Given the description of an element on the screen output the (x, y) to click on. 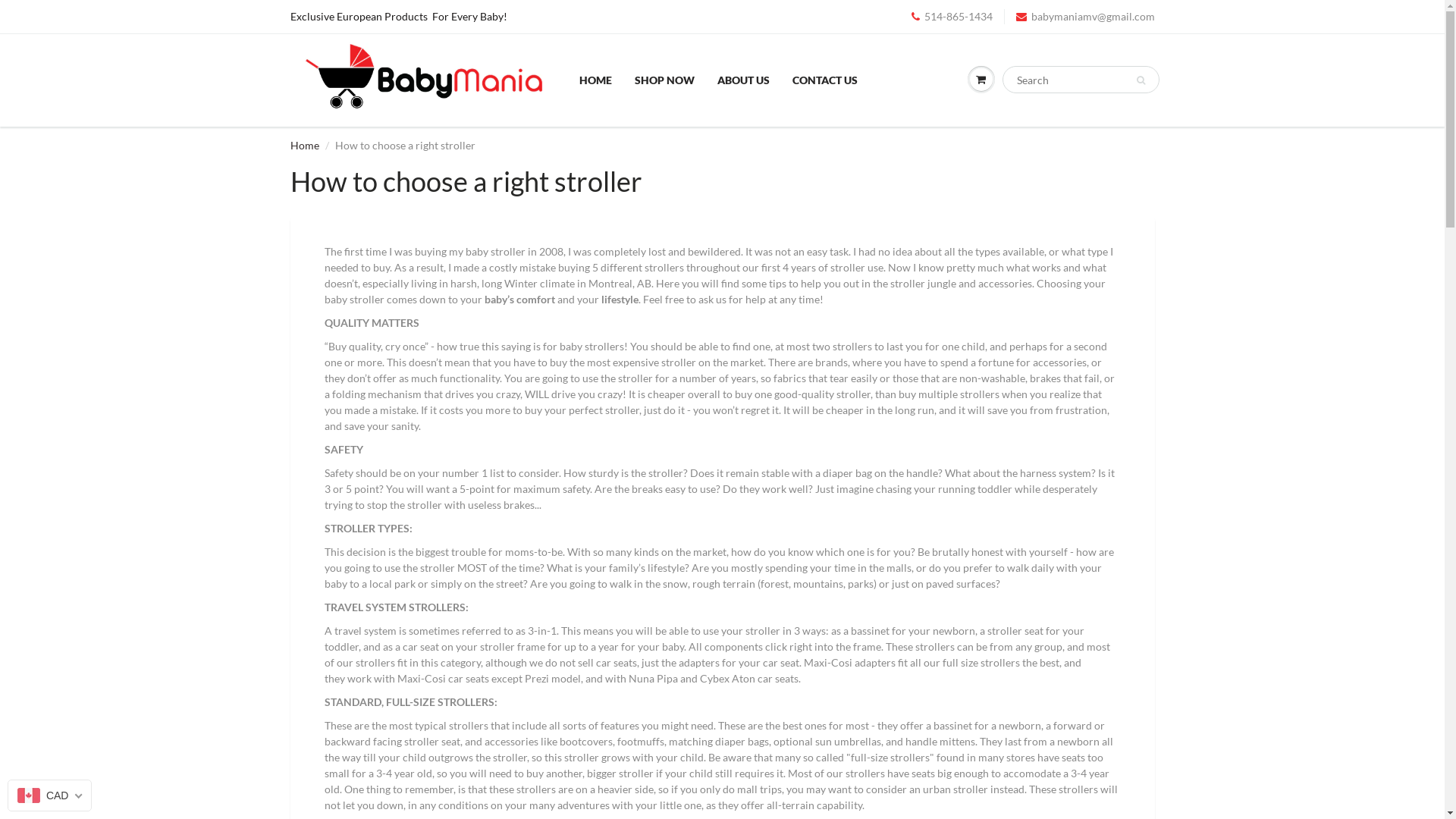
Search Element type: text (1140, 80)
514-865-1434 Element type: text (951, 16)
SHOP NOW Element type: text (664, 79)
HOME Element type: text (594, 79)
Home Element type: text (303, 144)
CONTACT US Element type: text (825, 79)
ABOUT US Element type: text (742, 79)
babymaniamv@gmail.com Element type: text (1085, 16)
